Given the description of an element on the screen output the (x, y) to click on. 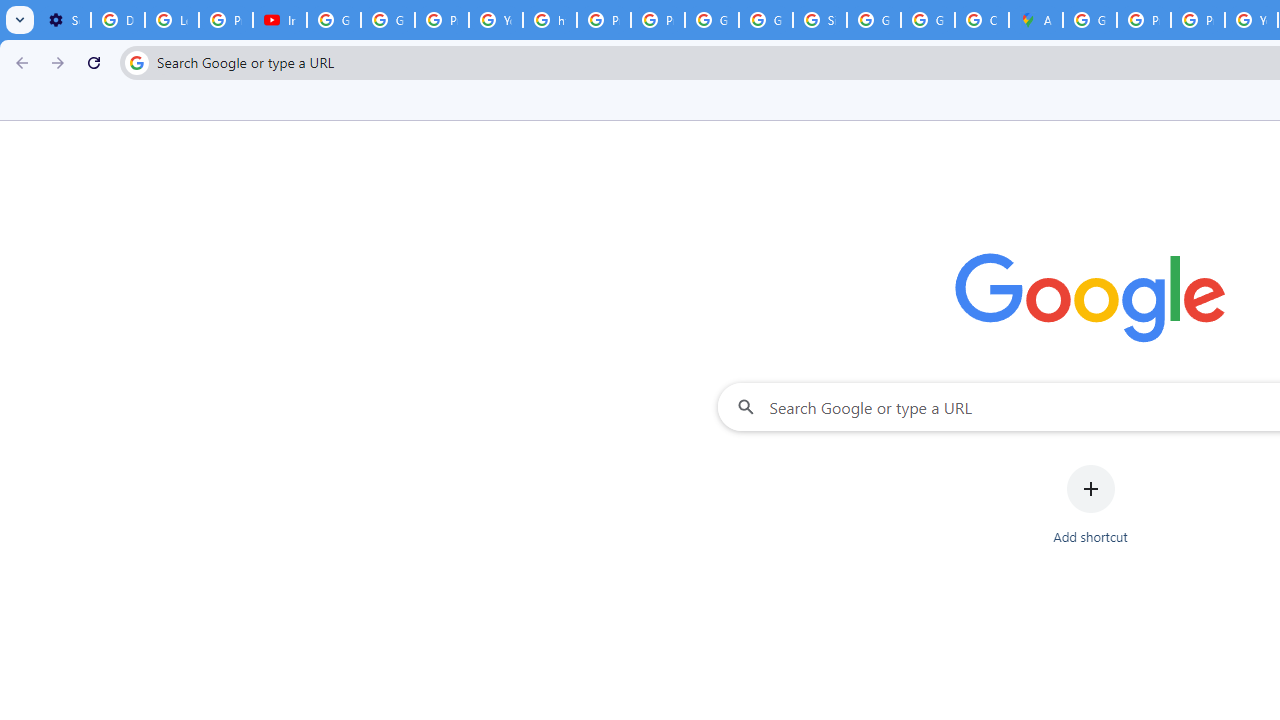
Privacy Help Center - Policies Help (1144, 20)
Add shortcut (1090, 504)
Create your Google Account (981, 20)
Sign in - Google Accounts (819, 20)
Search icon (136, 62)
YouTube (495, 20)
